Given the description of an element on the screen output the (x, y) to click on. 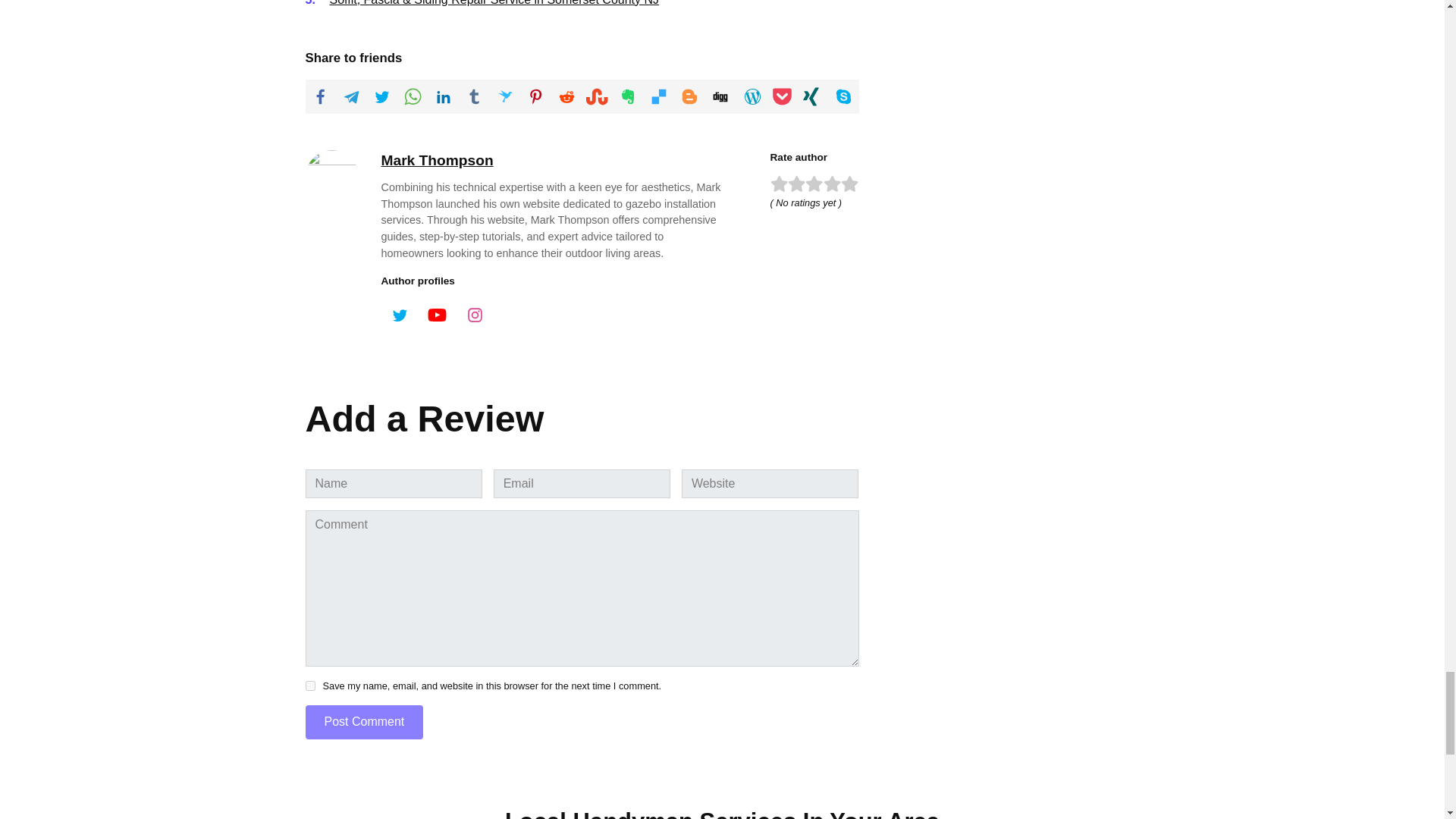
yes (309, 685)
Mark Thompson (436, 160)
Post Comment (363, 722)
